Given the description of an element on the screen output the (x, y) to click on. 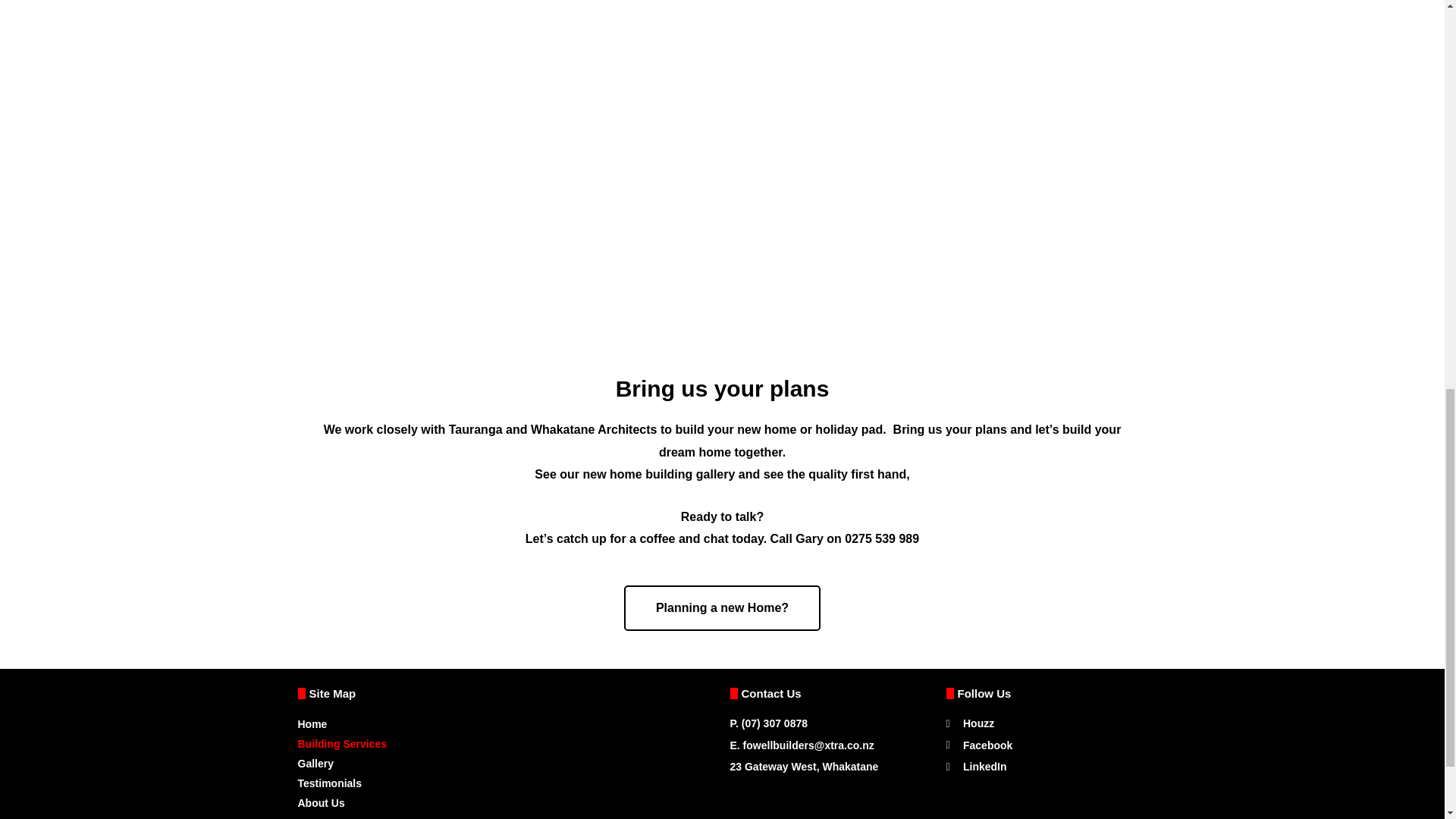
About Us (505, 803)
Home (505, 723)
Planning a new Home? (722, 607)
Contact Us (505, 816)
Building Services (505, 743)
Gallery (505, 763)
Testimonials (505, 783)
